Given the description of an element on the screen output the (x, y) to click on. 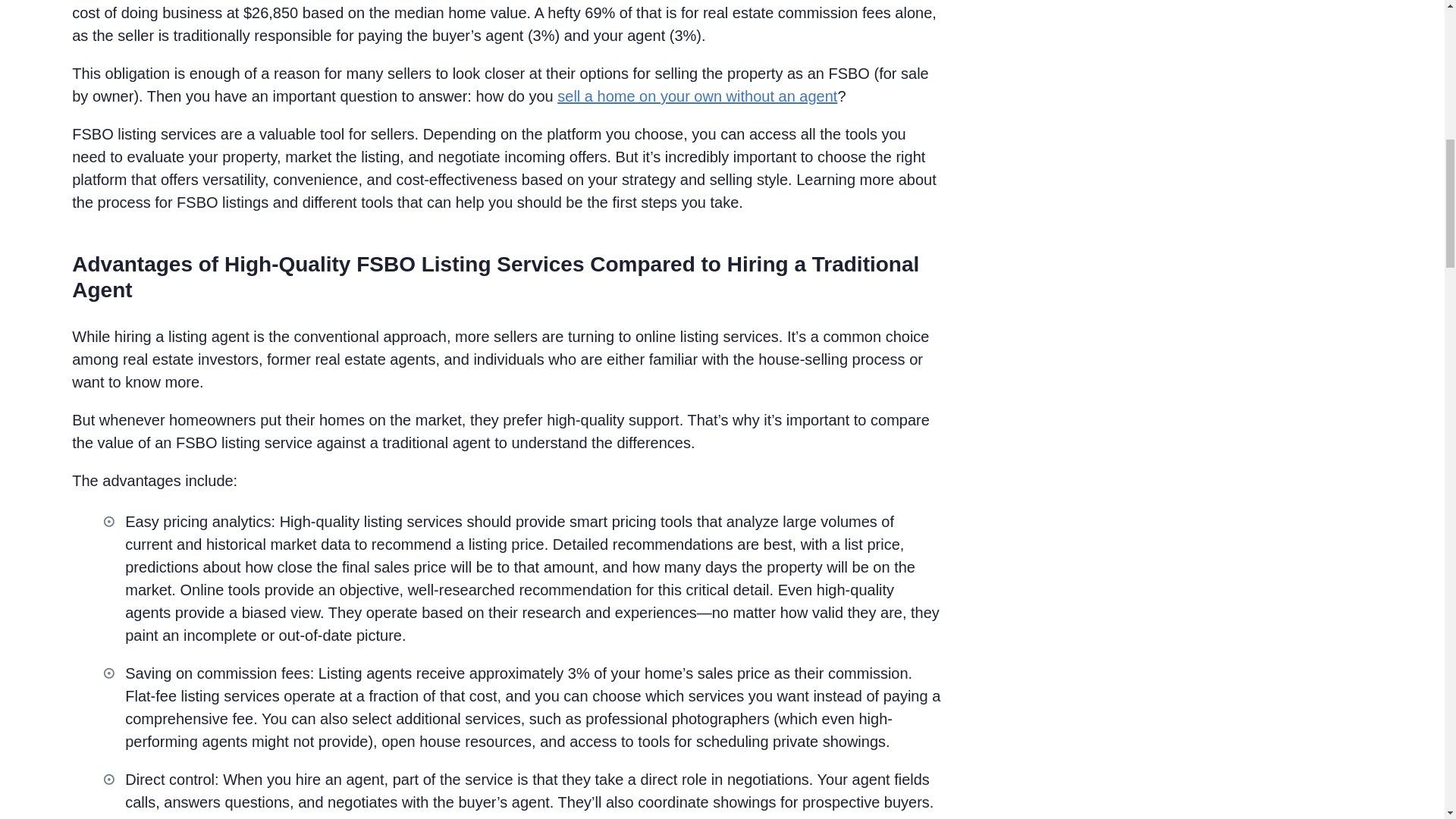
sell a home on your own without an agent (697, 95)
